Given the description of an element on the screen output the (x, y) to click on. 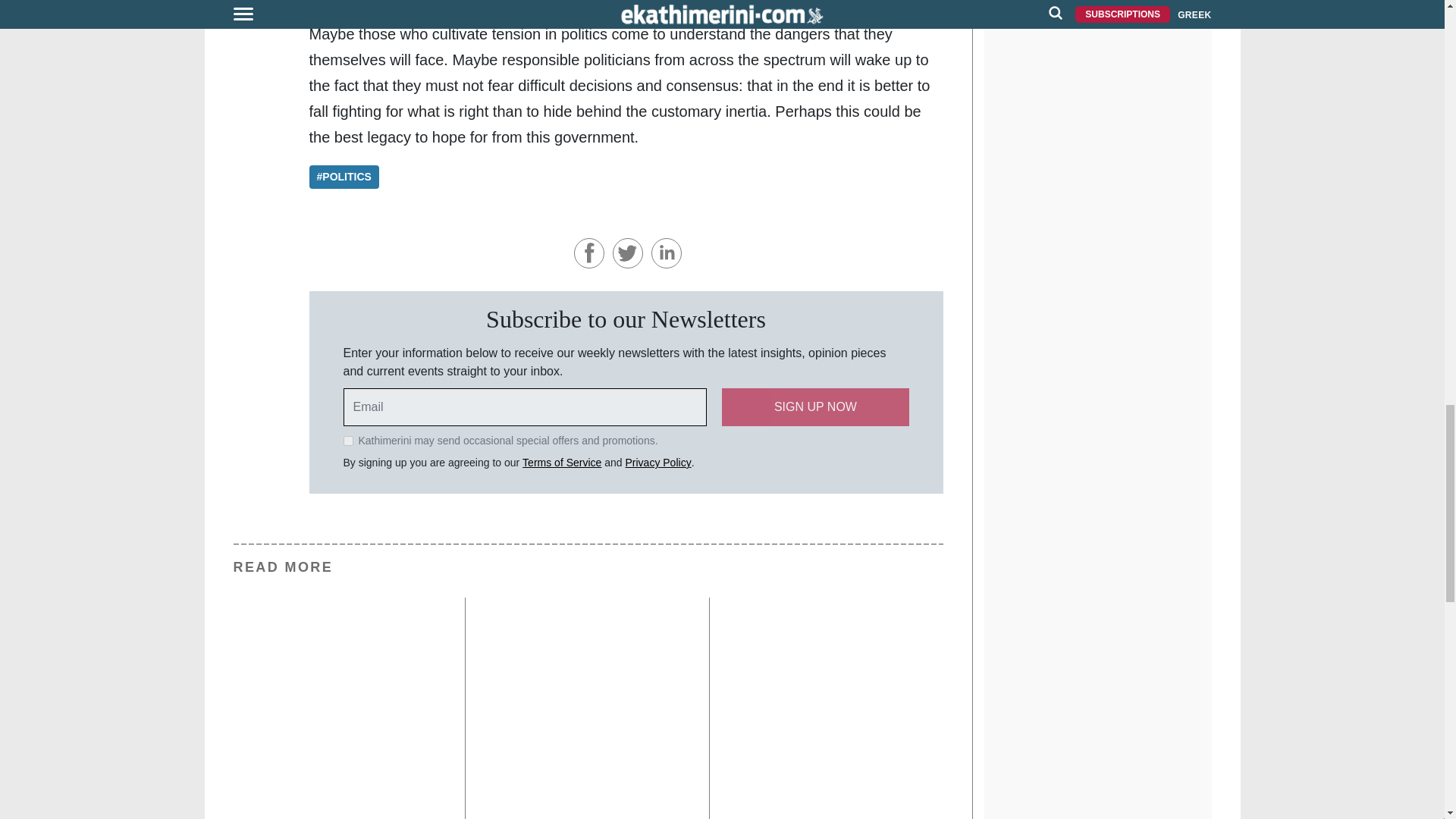
on (347, 440)
